Given the description of an element on the screen output the (x, y) to click on. 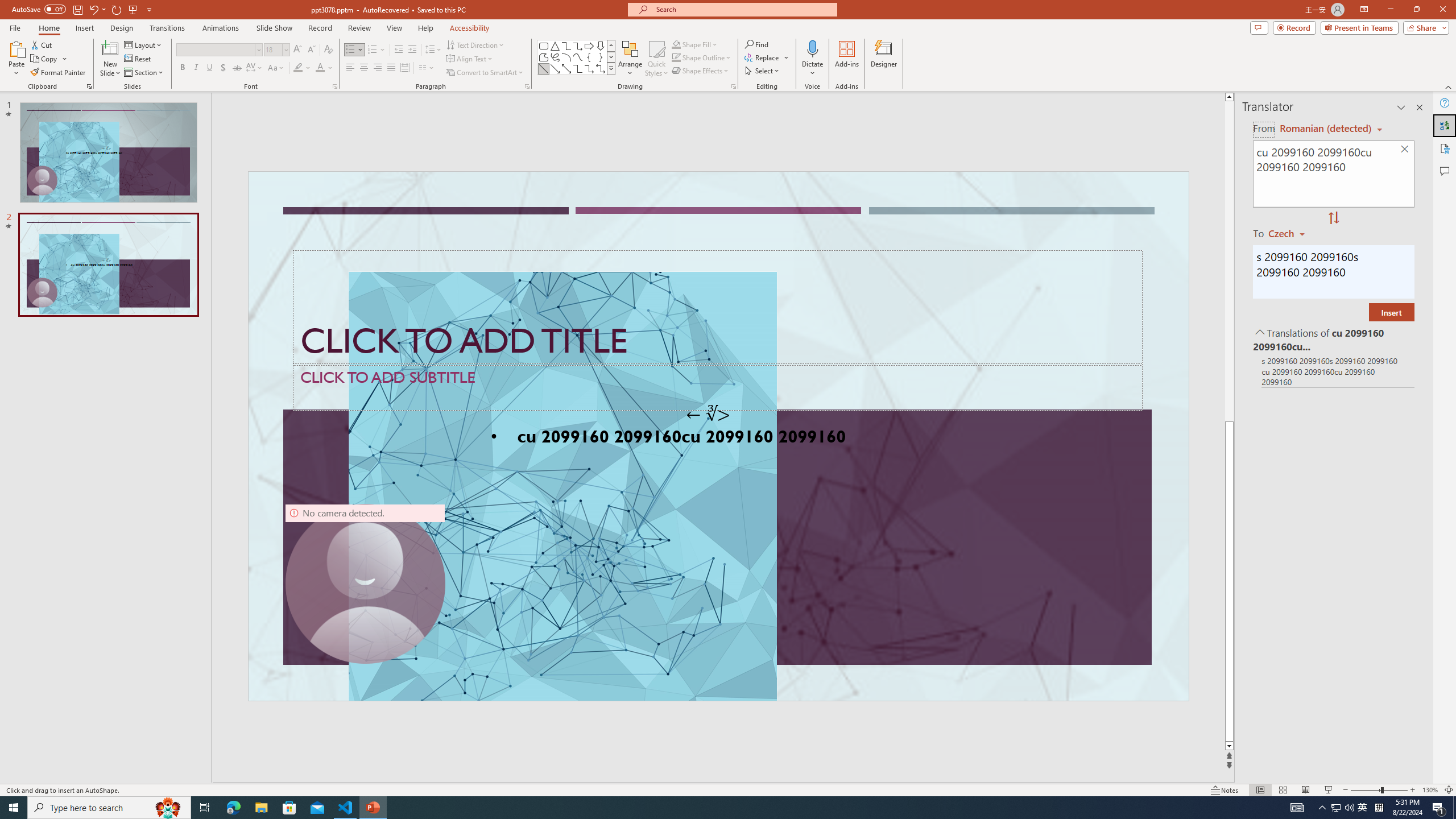
An abstract genetic concept (718, 436)
Czech (detected) (1323, 128)
